Given the description of an element on the screen output the (x, y) to click on. 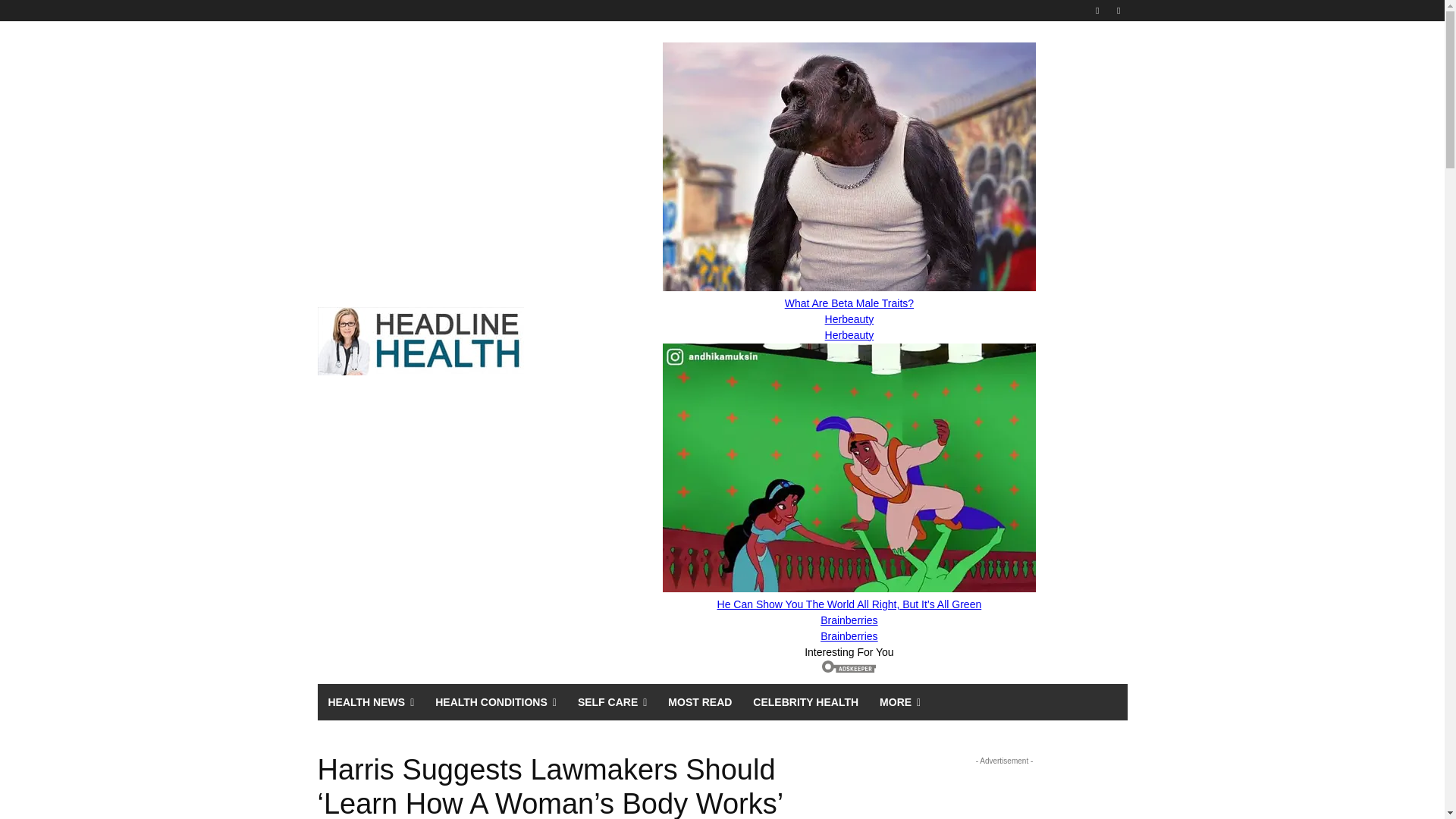
Twitter (1117, 9)
Facebook (1097, 9)
Advertisement (1003, 794)
